Given the description of an element on the screen output the (x, y) to click on. 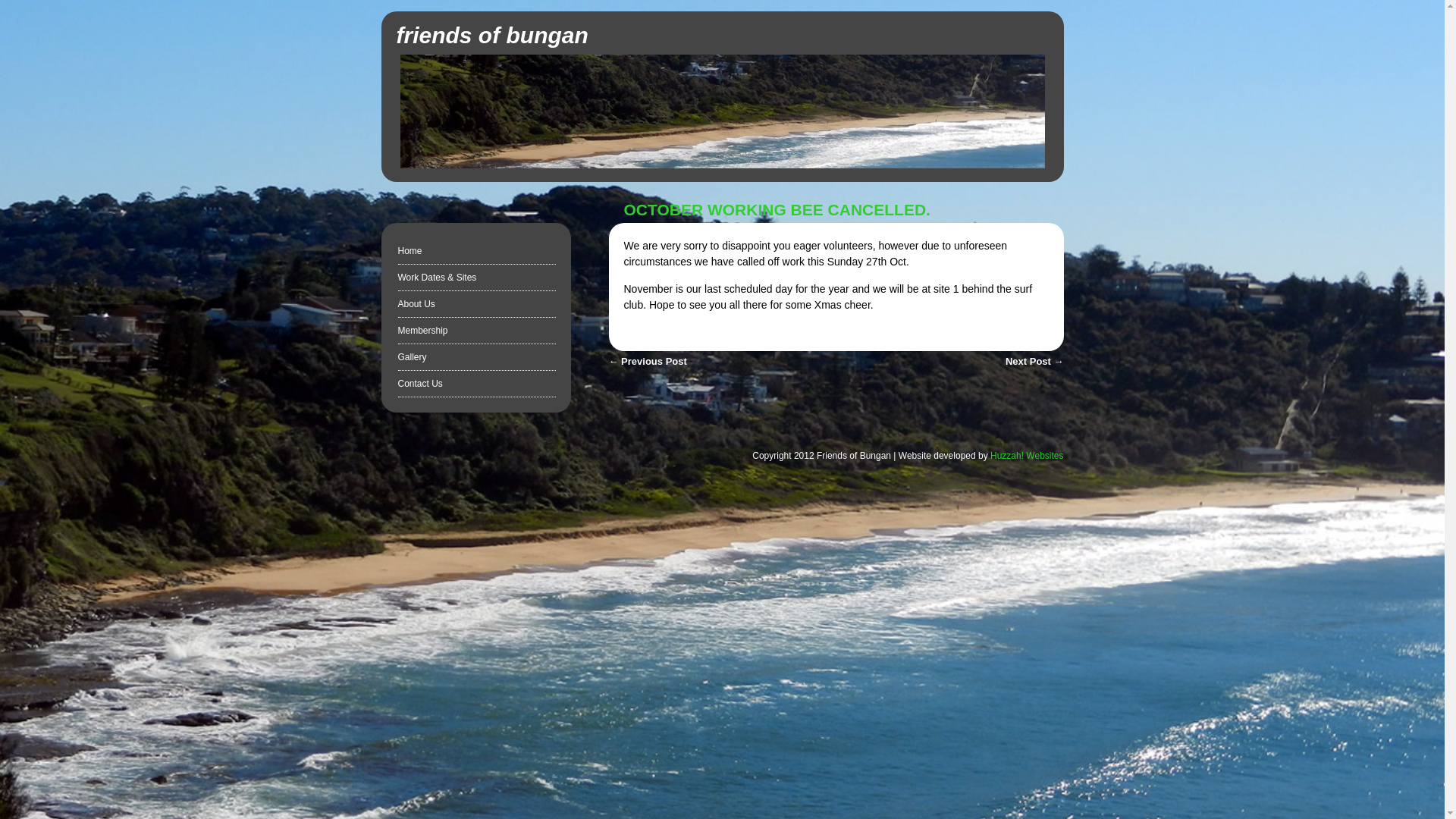
Friends of Bungan Element type: hover (722, 164)
Huzzah! Websites Element type: text (1026, 455)
Membership Element type: text (422, 330)
About Us Element type: text (415, 303)
Gallery Element type: text (411, 356)
Home Element type: text (409, 250)
Contact Us Element type: text (419, 383)
friends of bungan Element type: text (491, 34)
Work Dates & Sites Element type: text (436, 277)
